Given the description of an element on the screen output the (x, y) to click on. 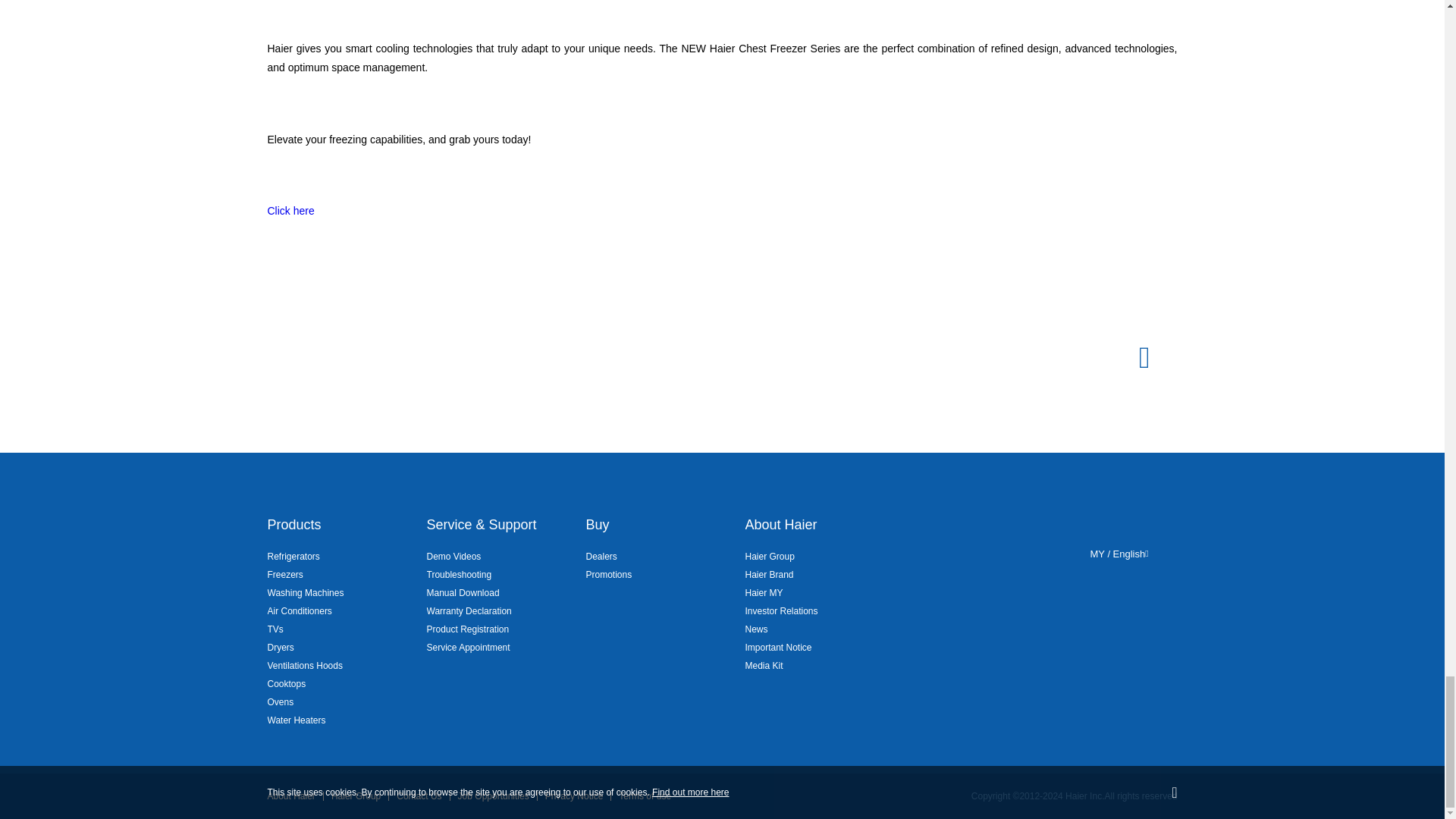
Products (293, 524)
Refrigerators (292, 556)
Click here (290, 209)
